Given the description of an element on the screen output the (x, y) to click on. 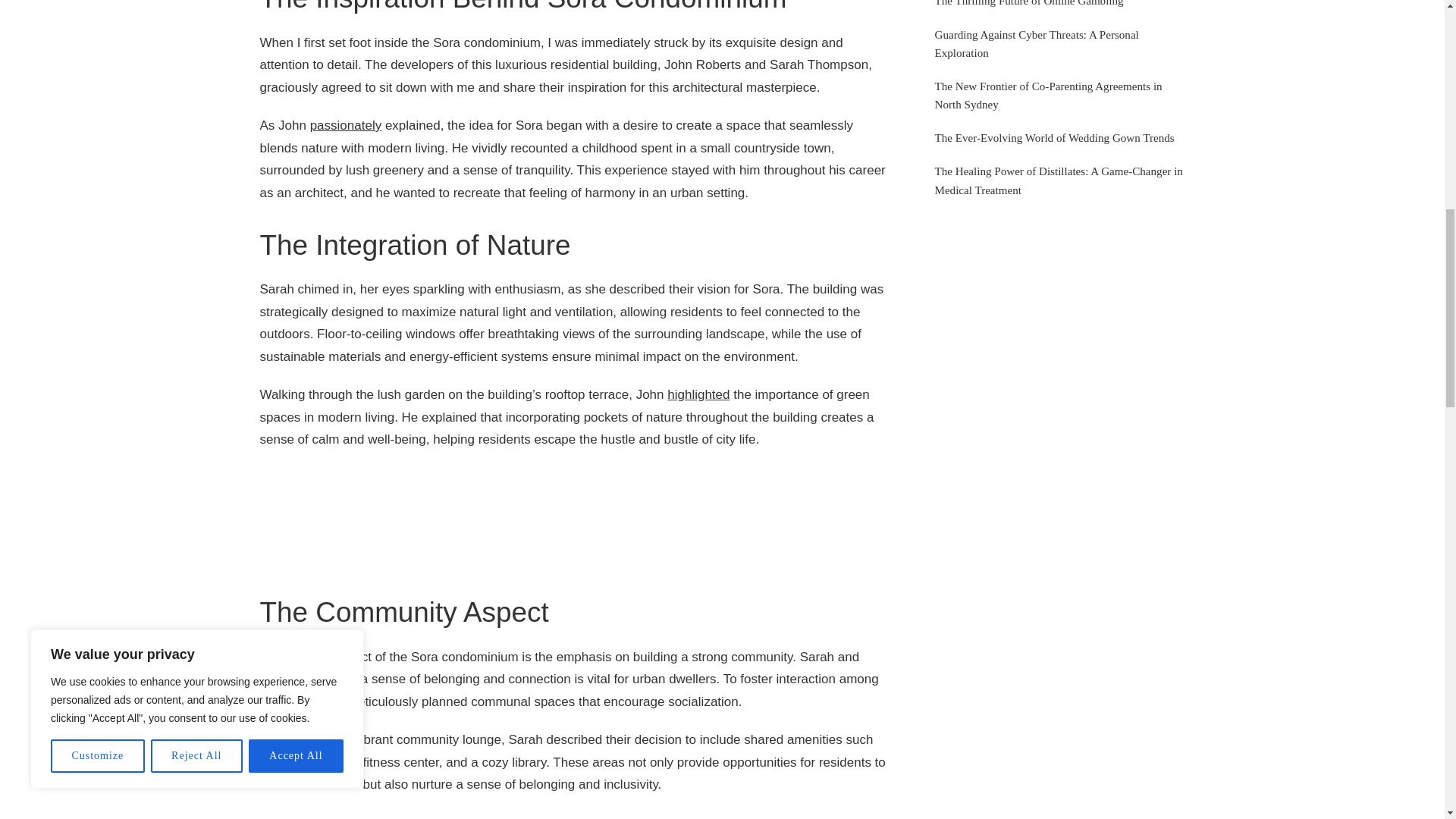
highlighted (697, 394)
passionately (345, 124)
